Given the description of an element on the screen output the (x, y) to click on. 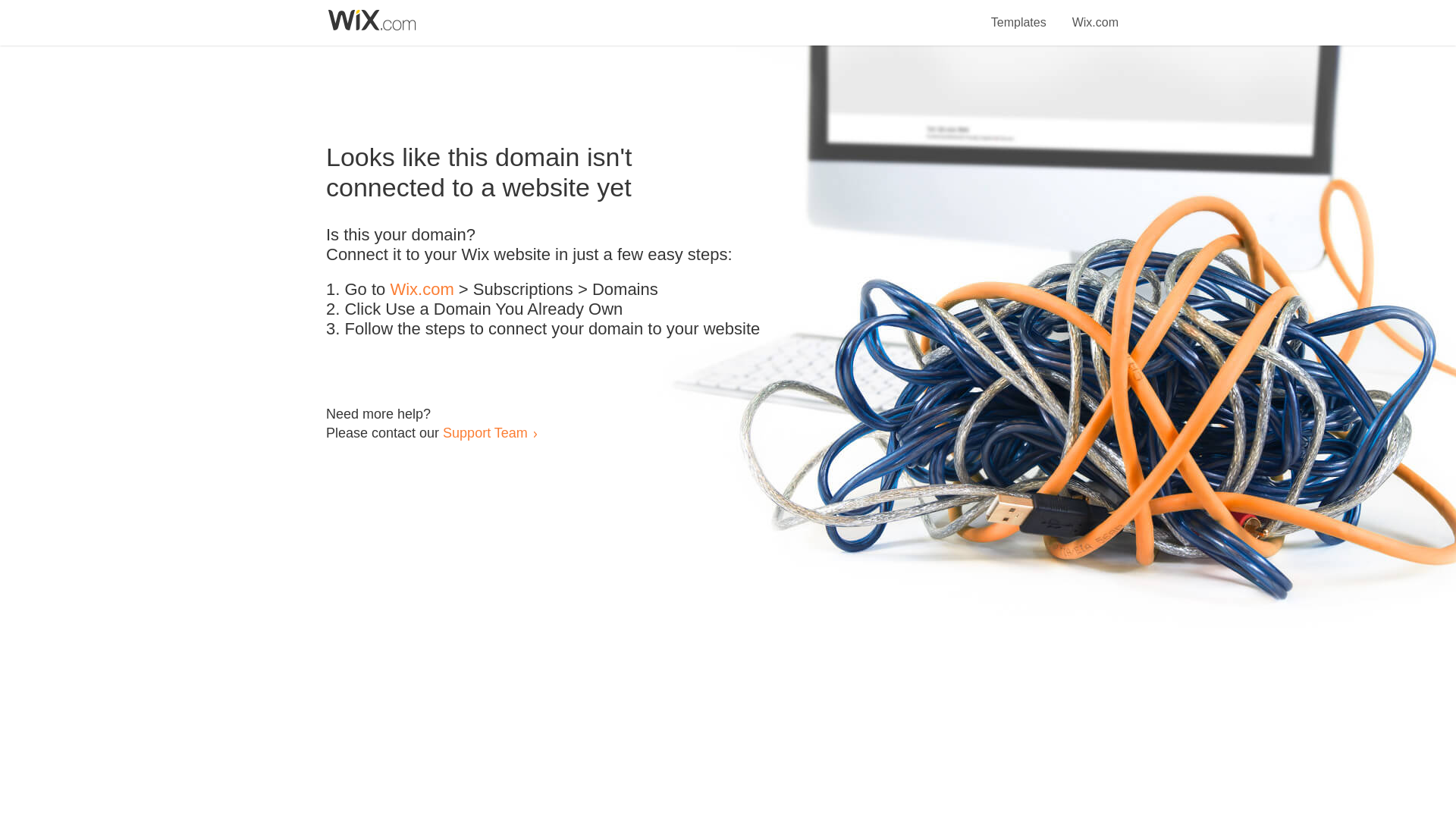
Support Team (484, 432)
Wix.com (421, 289)
Wix.com (1095, 14)
Templates (1018, 14)
